Given the description of an element on the screen output the (x, y) to click on. 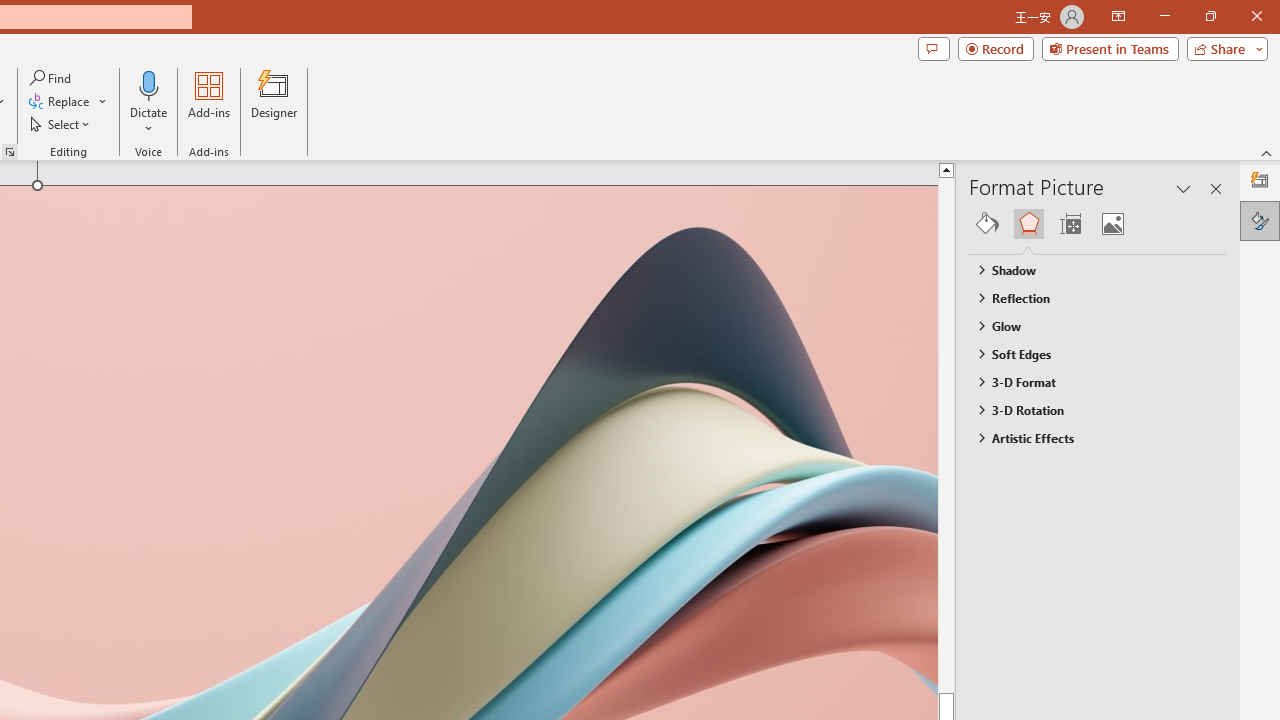
Reflection (1088, 297)
